Given the description of an element on the screen output the (x, y) to click on. 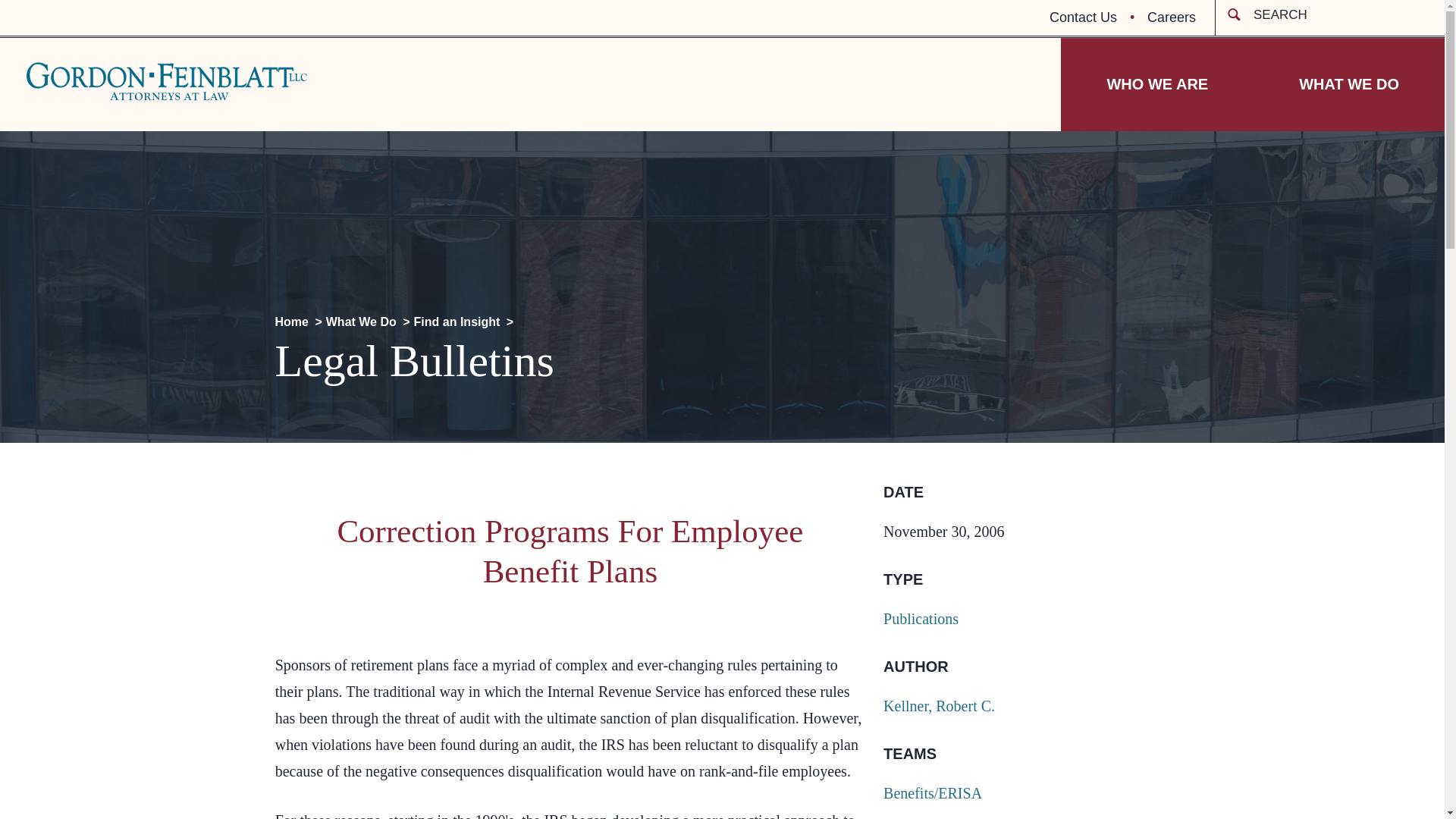
go (18, 14)
Contact Us (1093, 18)
Careers (1170, 18)
WHO WE ARE (1157, 84)
Gordon Feinblatt (166, 81)
